Given the description of an element on the screen output the (x, y) to click on. 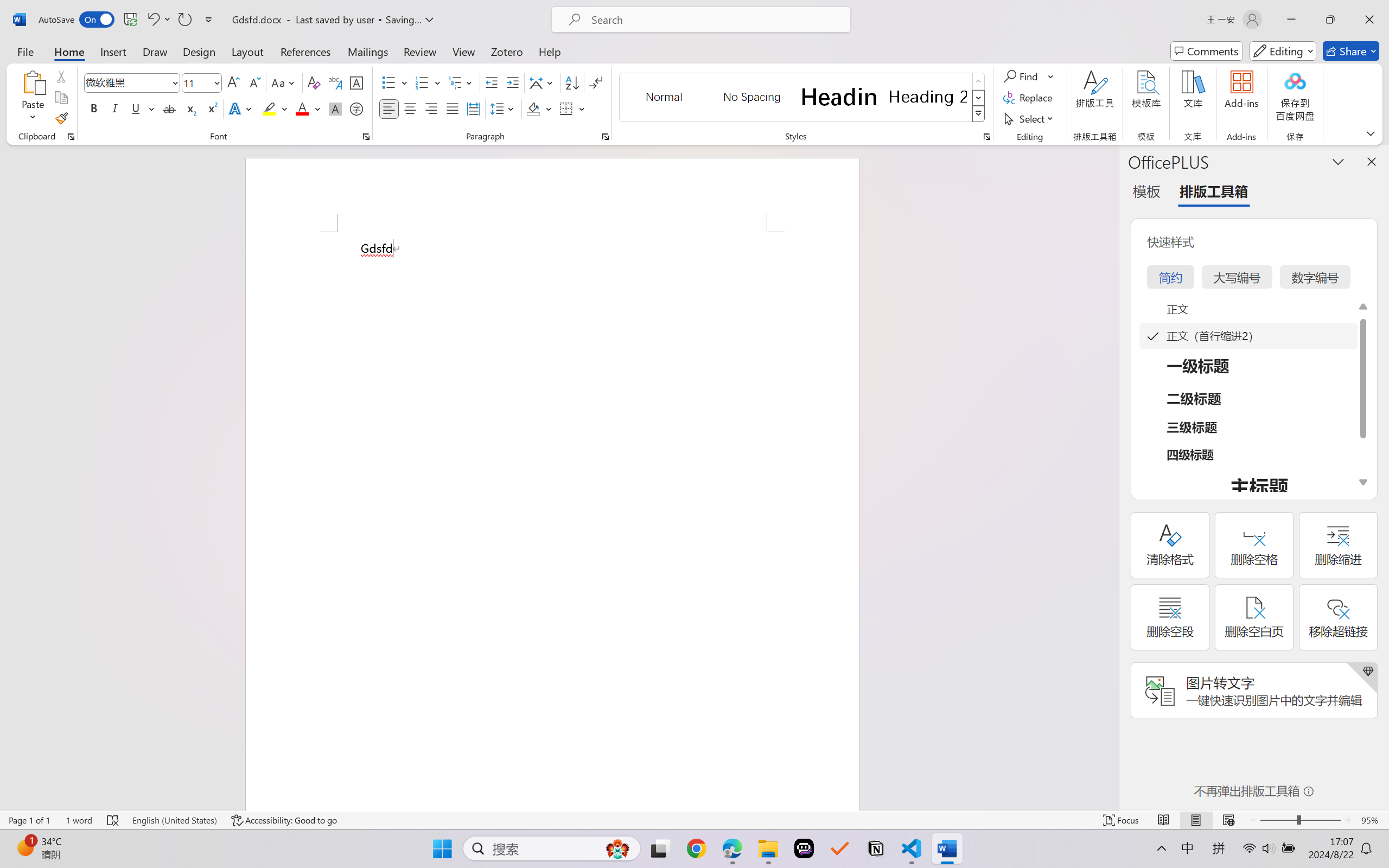
Class: NetUIScrollBar (1111, 477)
